Given the description of an element on the screen output the (x, y) to click on. 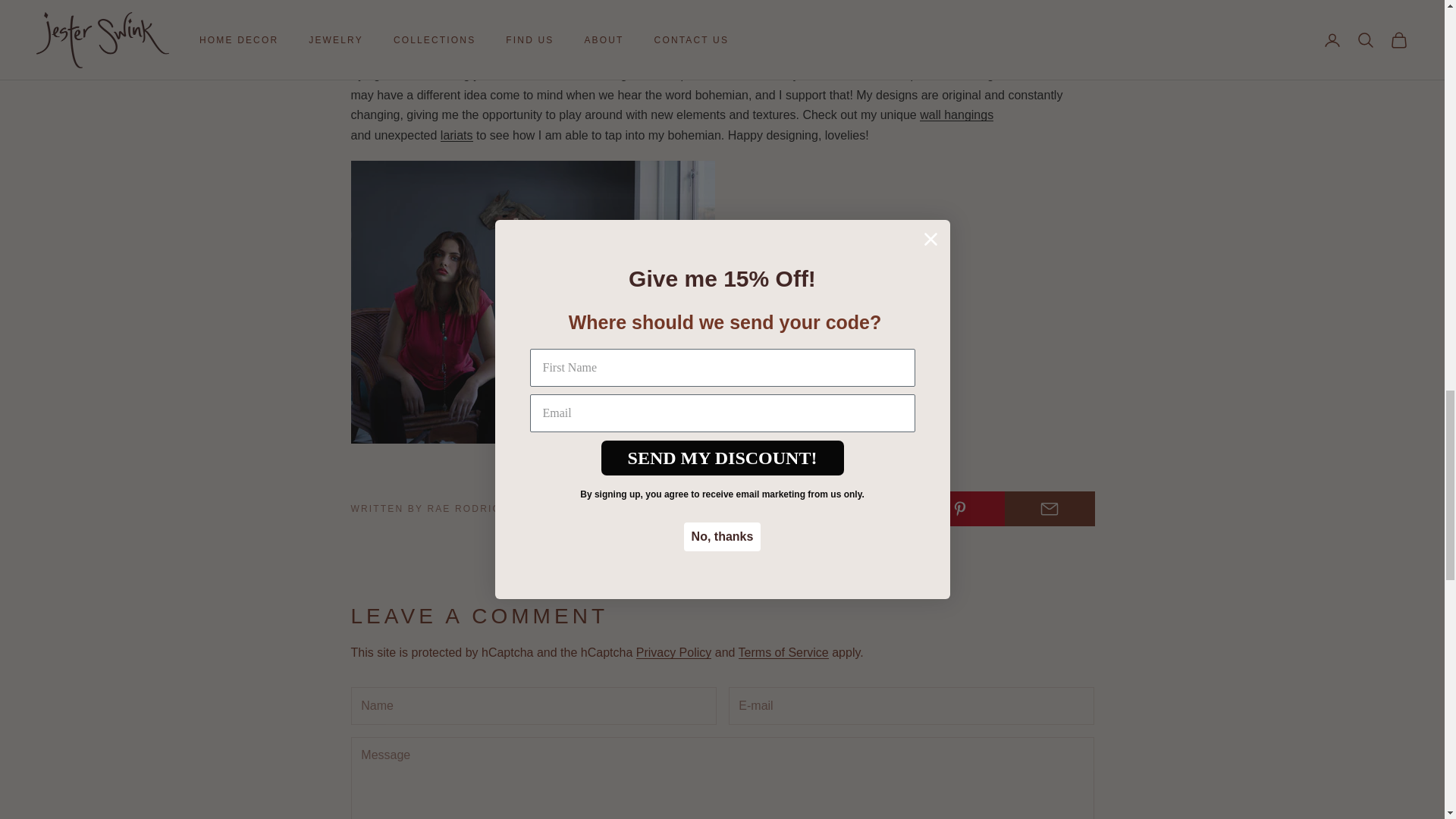
Wall Hangings (956, 114)
Lariats (457, 134)
